Given the description of an element on the screen output the (x, y) to click on. 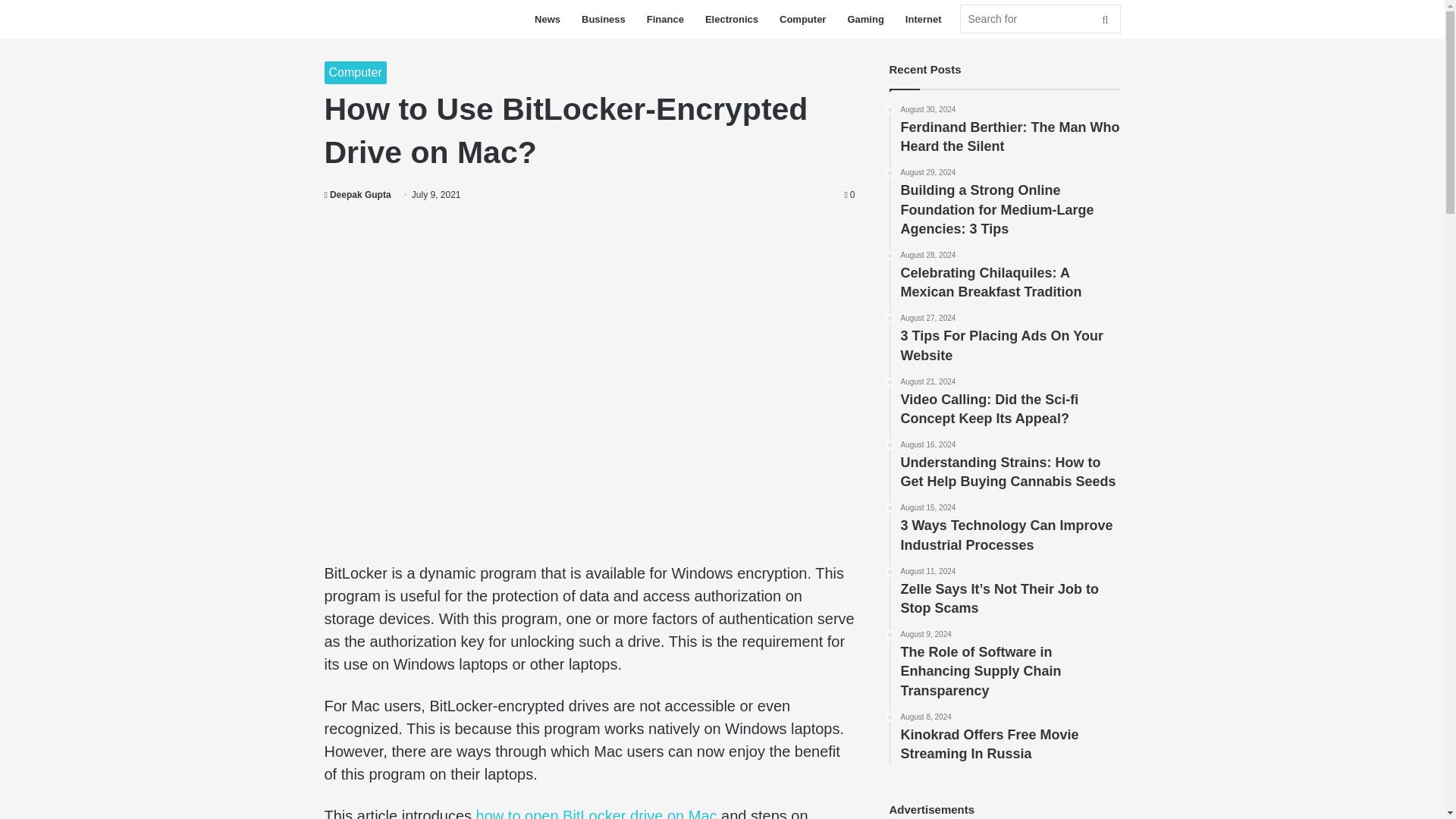
Gaming (864, 19)
Computer (355, 72)
News (547, 19)
Deepak Gupta (357, 194)
Internet (923, 19)
Business (603, 19)
